Given the description of an element on the screen output the (x, y) to click on. 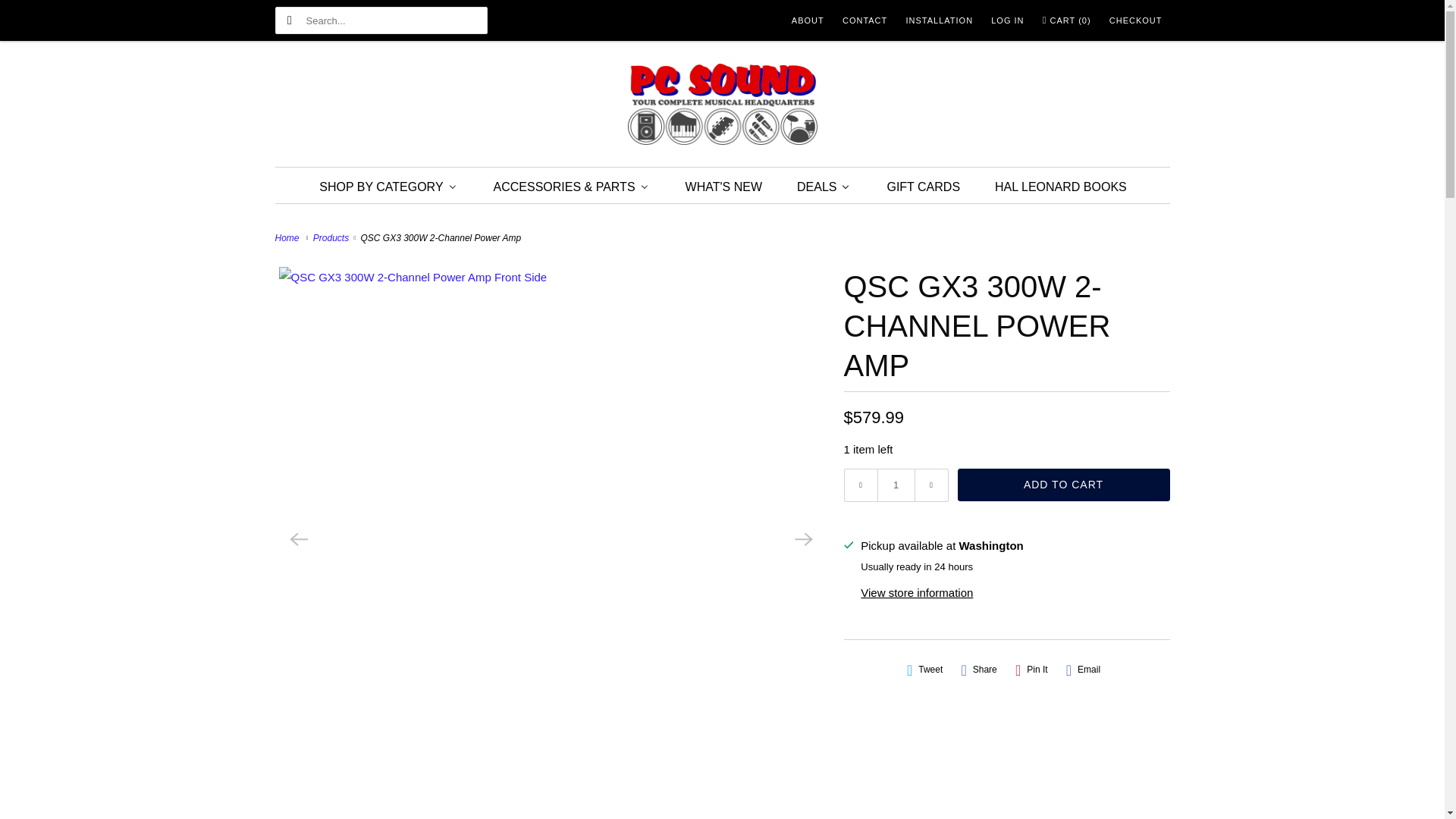
INSTALLATION (938, 20)
CHECKOUT (1135, 20)
ABOUT (808, 20)
CONTACT (864, 20)
1 (895, 485)
PC Sound Inc (722, 107)
LOG IN (1007, 20)
